Given the description of an element on the screen output the (x, y) to click on. 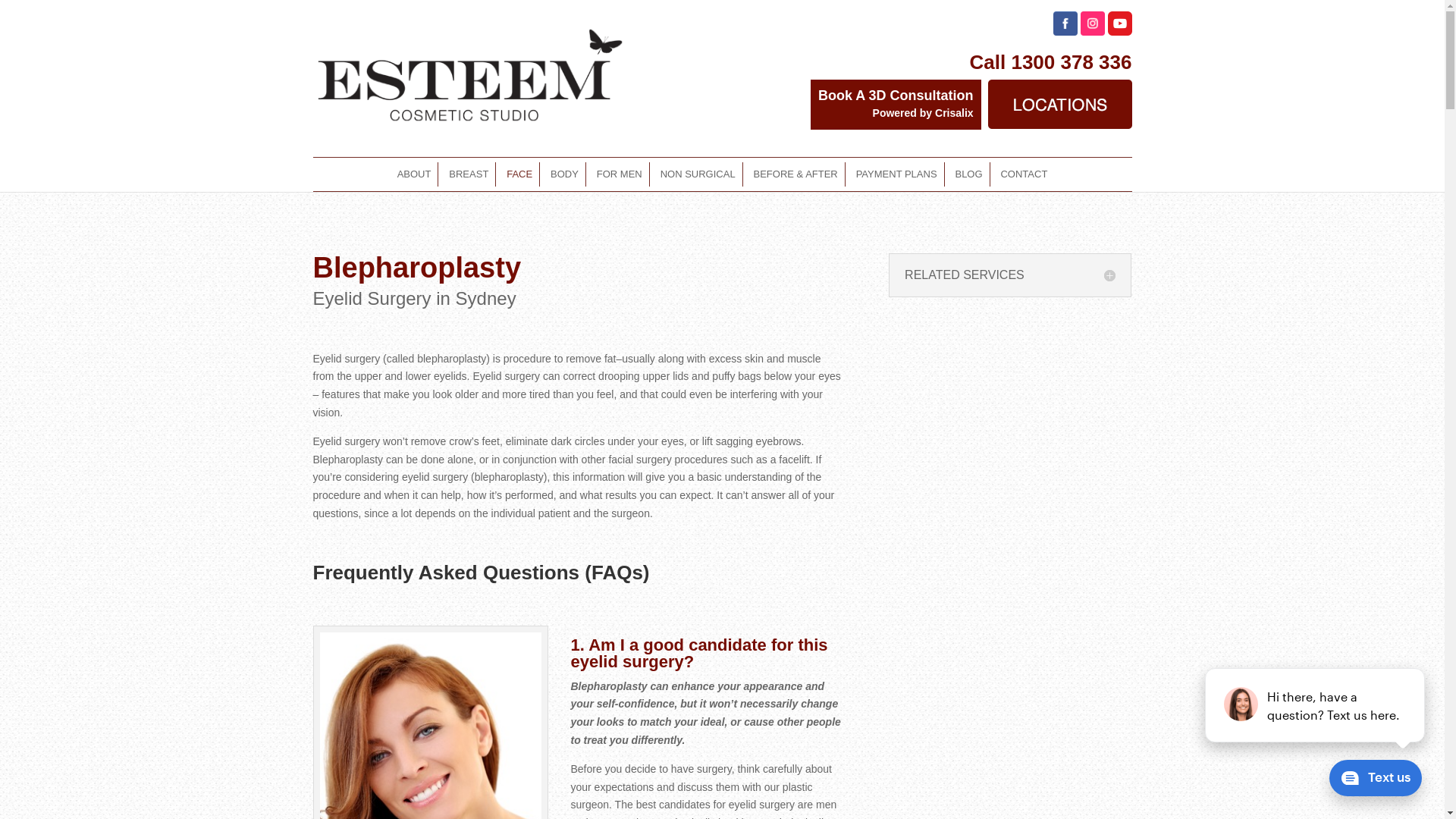
Book A 3D Consultation
Powered by Crisalix Element type: text (895, 104)
BLOG Element type: text (968, 174)
BODY Element type: text (564, 174)
1300 378 336 Element type: text (1070, 61)
ABOUT Element type: text (414, 174)
BREAST Element type: text (468, 174)
podium webchat widget prompt Element type: hover (1315, 705)
BEFORE & AFTER Element type: text (795, 174)
CONTACT Element type: text (1023, 174)
FACE Element type: text (519, 174)
FOR MEN Element type: text (619, 174)
NON SURGICAL Element type: text (697, 174)
PAYMENT PLANS Element type: text (896, 174)
